Given the description of an element on the screen output the (x, y) to click on. 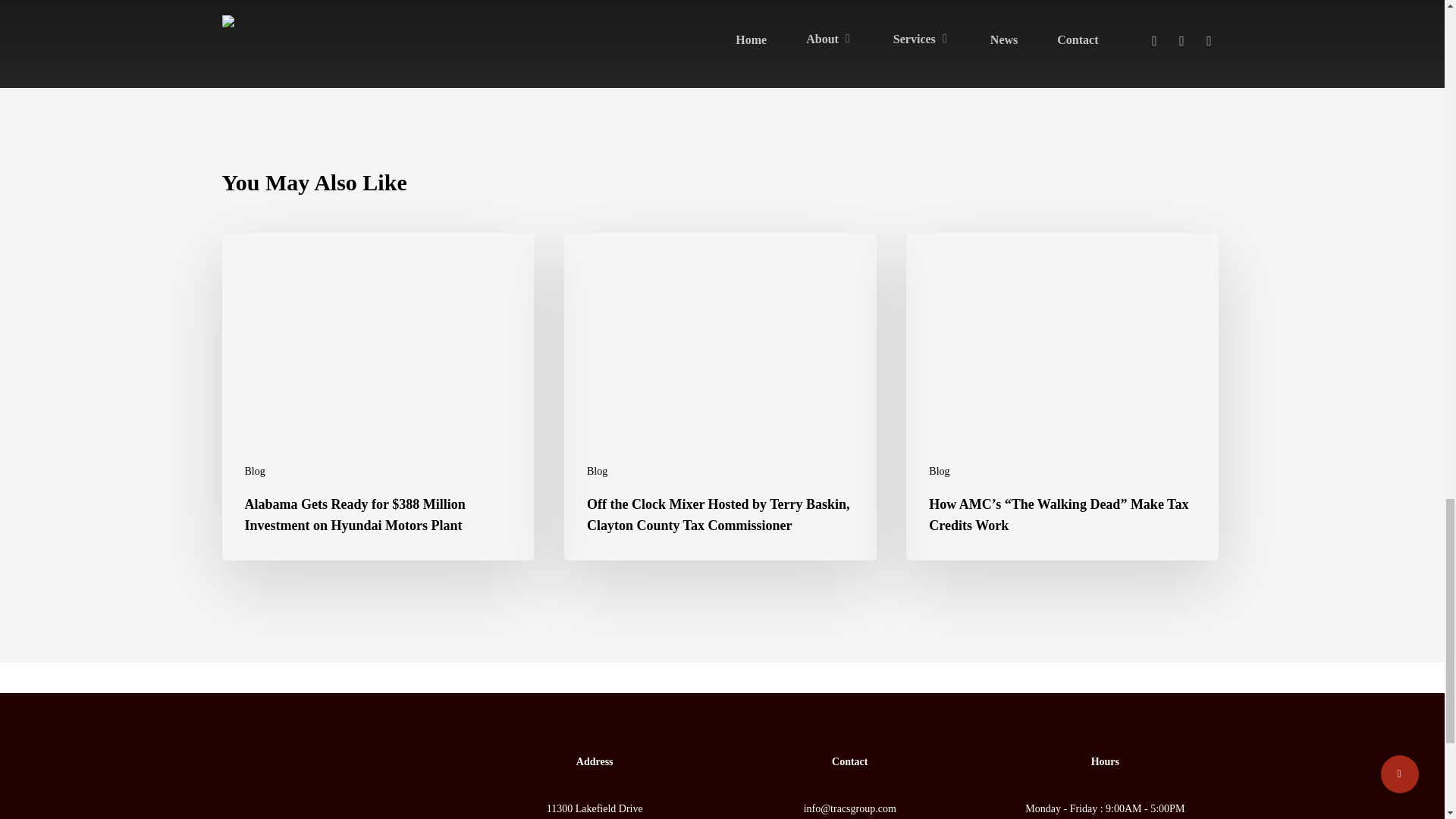
Blog (254, 471)
Blog (938, 471)
Blog (596, 471)
